Given the description of an element on the screen output the (x, y) to click on. 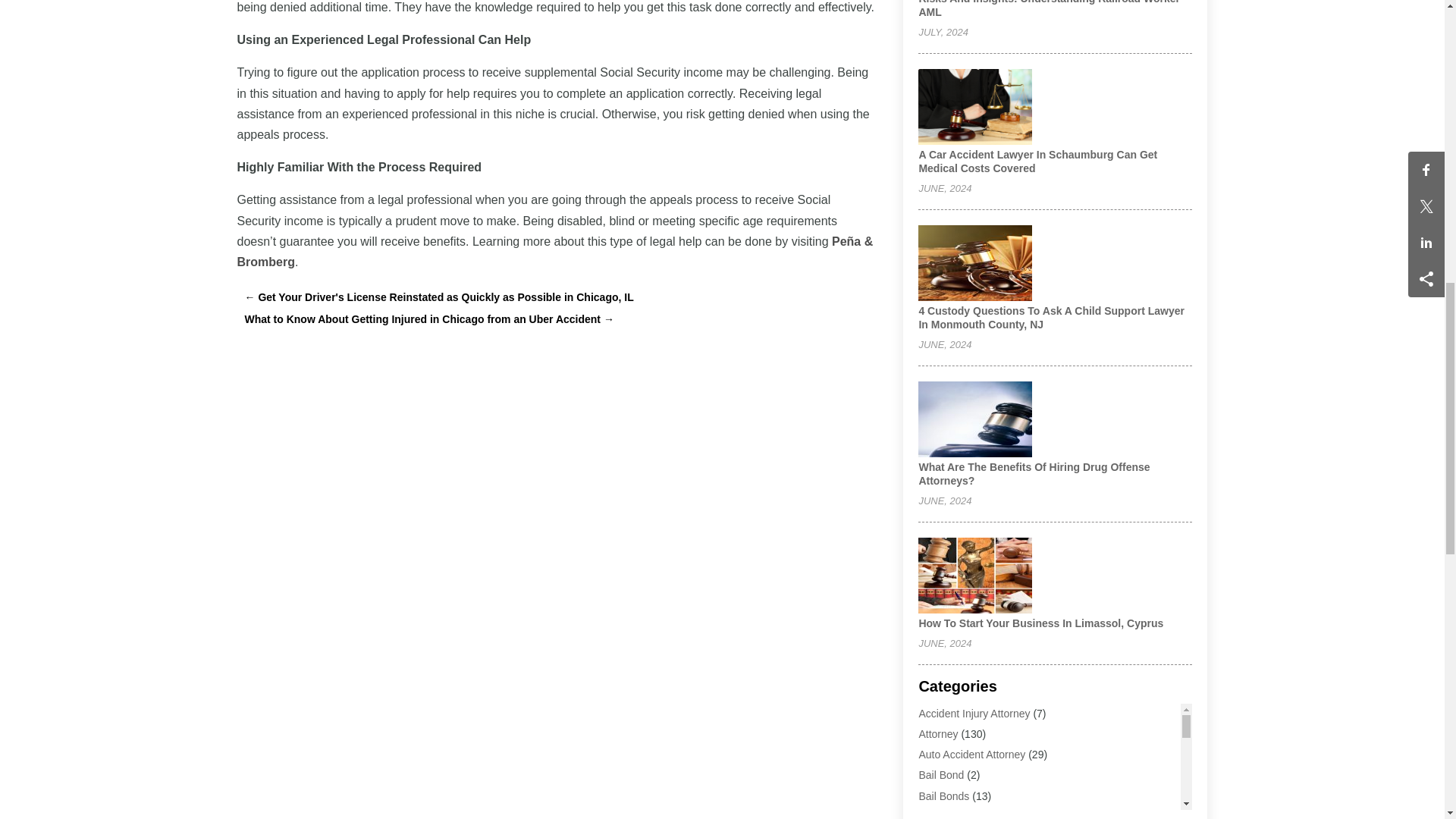
Bail Bonds (943, 796)
Bankruptcy Lawyer (963, 814)
Auto Accident Attorney (971, 754)
Attorney (938, 734)
Accident Injury Attorney (973, 713)
How To Start Your Business In Limassol, Cyprus (1040, 623)
Risks And Insights: Understanding Railroad Worker AML (1048, 9)
Bail Bond (940, 775)
What Are The Benefits Of Hiring Drug Offense Attorneys? (1034, 473)
